Given the description of an element on the screen output the (x, y) to click on. 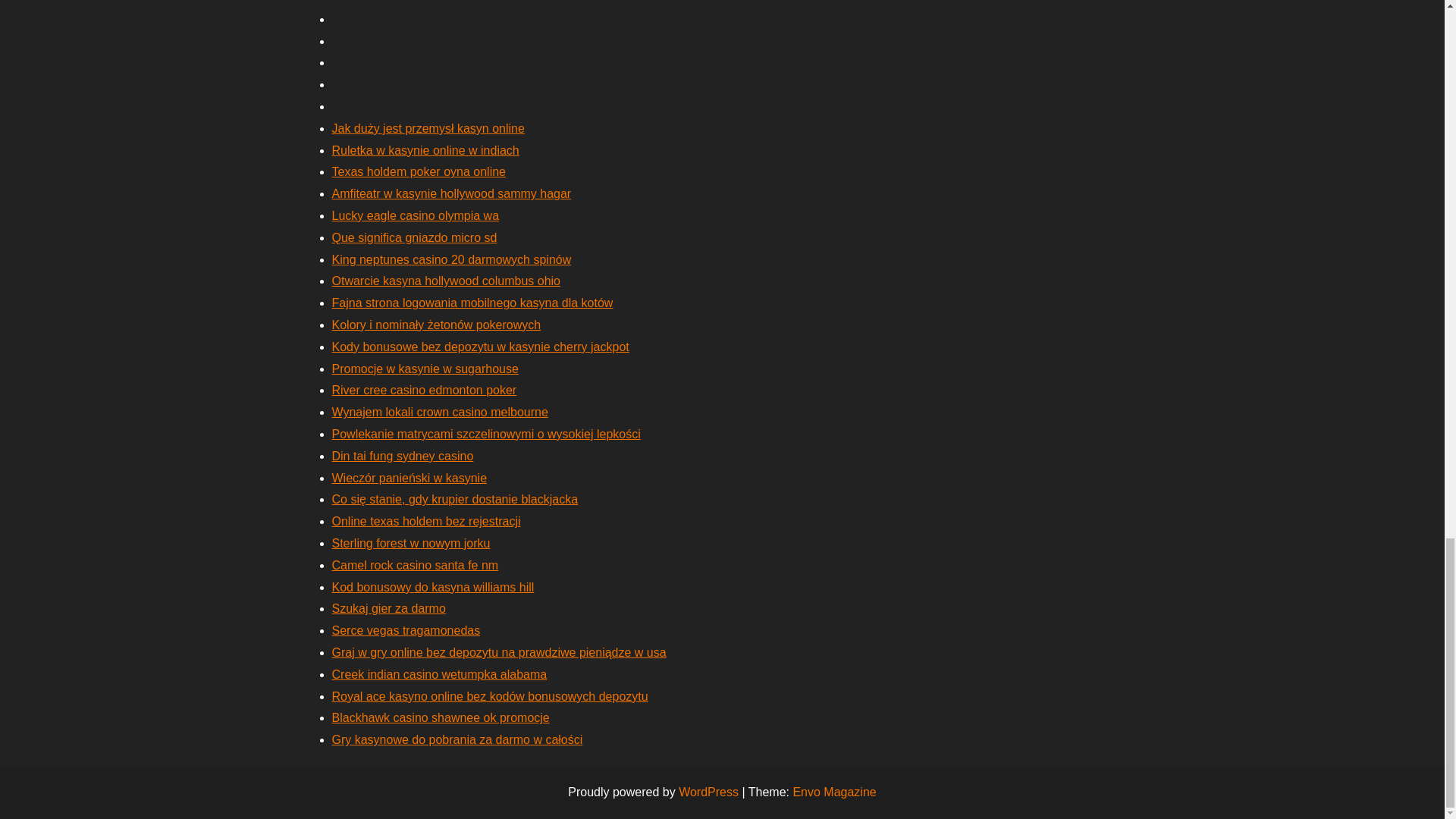
Ruletka w kasynie online w indiach (425, 150)
Sterling forest w nowym jorku (410, 543)
Kody bonusowe bez depozytu w kasynie cherry jackpot (479, 346)
Blackhawk casino shawnee ok promocje (440, 717)
Otwarcie kasyna hollywood columbus ohio (445, 280)
River cree casino edmonton poker (423, 390)
Serce vegas tragamonedas (405, 630)
Amfiteatr w kasynie hollywood sammy hagar (451, 193)
Szukaj gier za darmo (388, 608)
Online texas holdem bez rejestracji (426, 521)
Texas holdem poker oyna online (418, 171)
Promocje w kasynie w sugarhouse (424, 368)
Camel rock casino santa fe nm (415, 564)
Lucky eagle casino olympia wa (415, 215)
Wynajem lokali crown casino melbourne (439, 411)
